Given the description of an element on the screen output the (x, y) to click on. 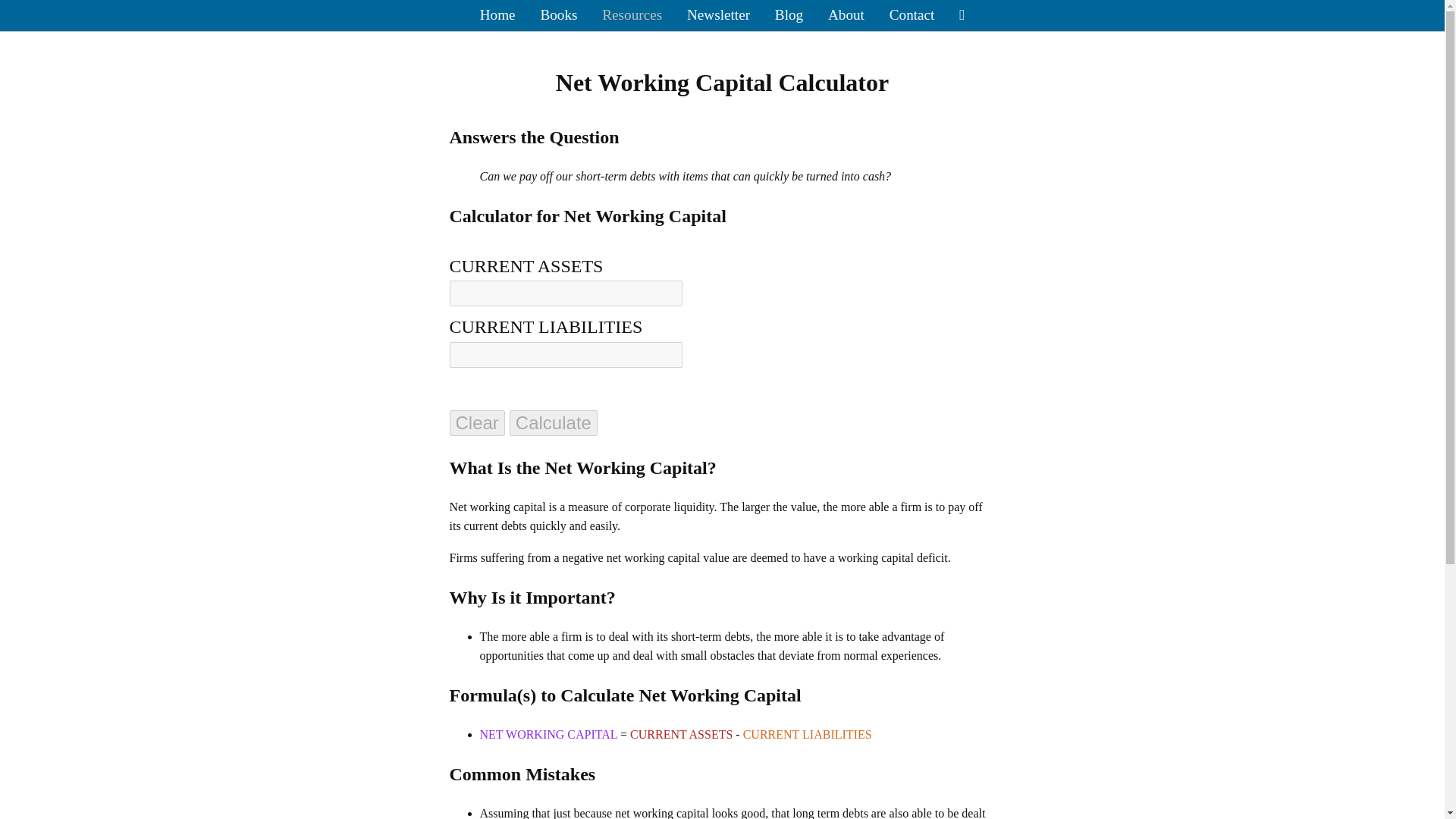
About (845, 15)
Books (558, 15)
Contact (911, 15)
Home (497, 15)
Resources (631, 15)
Blog (788, 15)
Newsletter (718, 15)
Calculate (552, 422)
Calculate (552, 422)
Clear (475, 422)
